Given the description of an element on the screen output the (x, y) to click on. 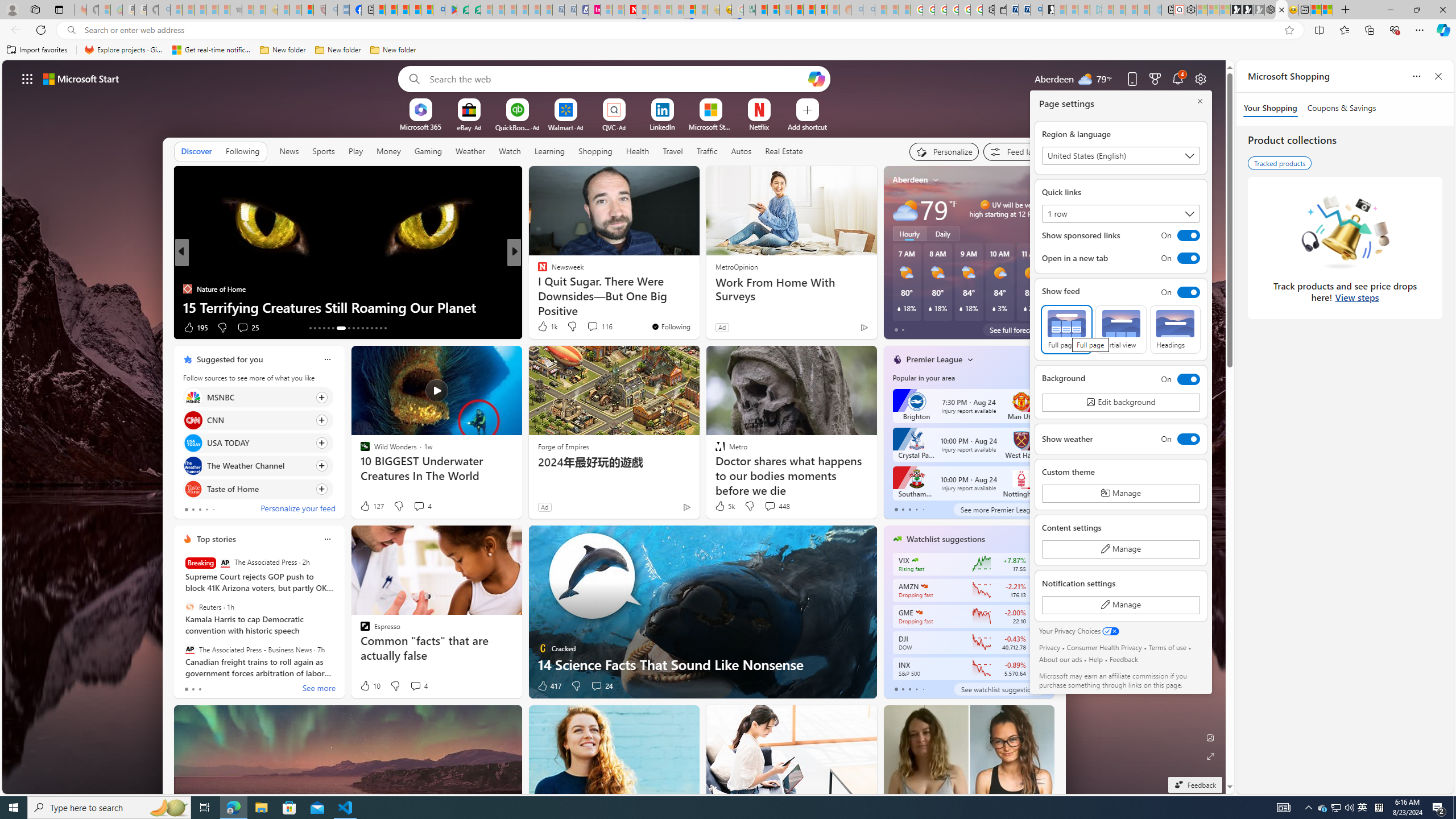
Mostly cloudy (904, 208)
LinkedIn (662, 126)
Pets - MSN (415, 9)
Autos (740, 151)
The Associated Press - Business News (189, 649)
AutomationID: tab-14 (314, 328)
Suggested for you (229, 359)
Local - MSN (307, 9)
Body Network (537, 288)
Cheap Car Rentals - Save70.com - Sleeping (558, 9)
Latest Politics News & Archive | Newsweek.com (629, 9)
AutomationID: tab-23 (362, 328)
